Given the description of an element on the screen output the (x, y) to click on. 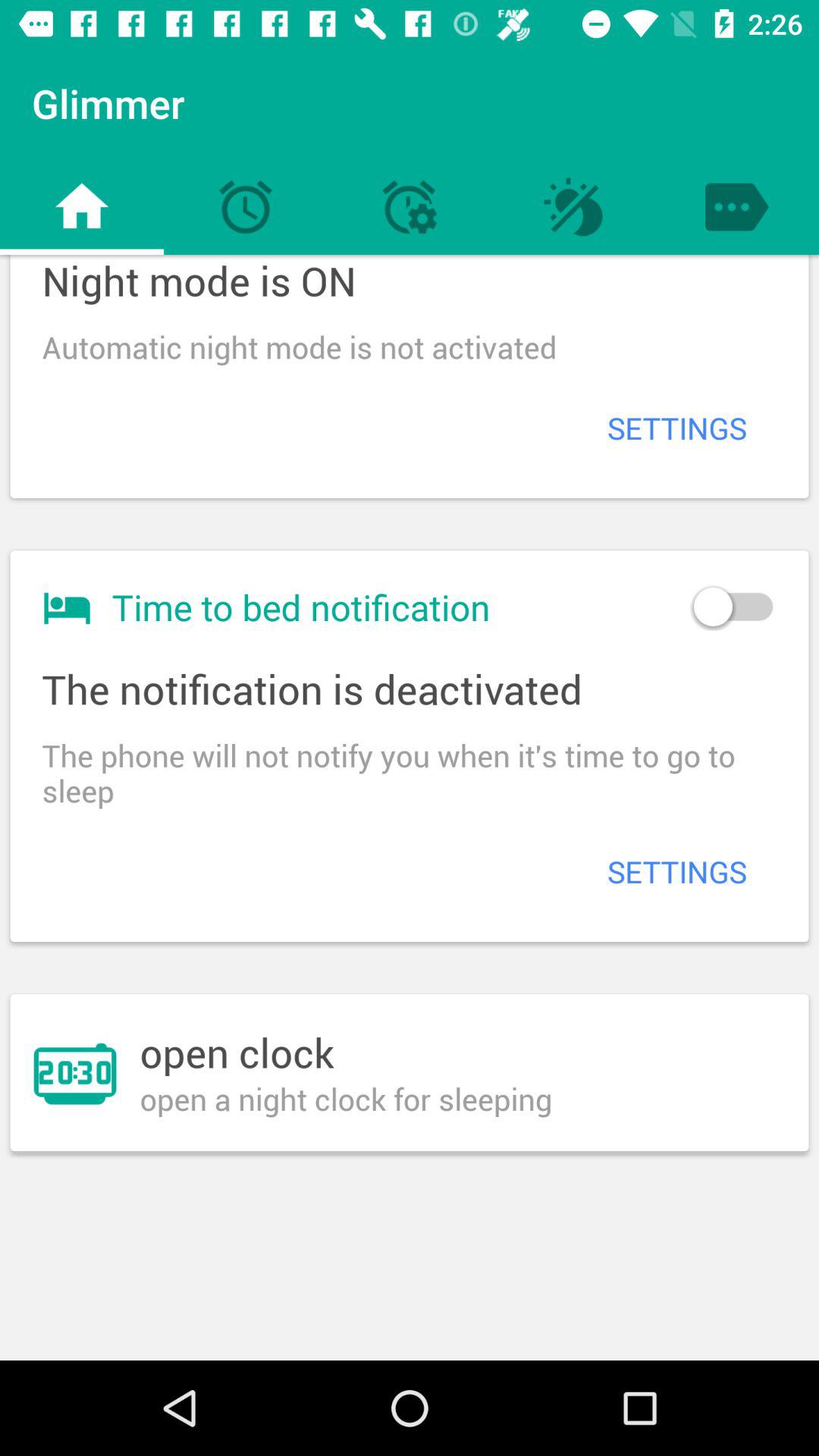
click the item below settings item (732, 606)
